Given the description of an element on the screen output the (x, y) to click on. 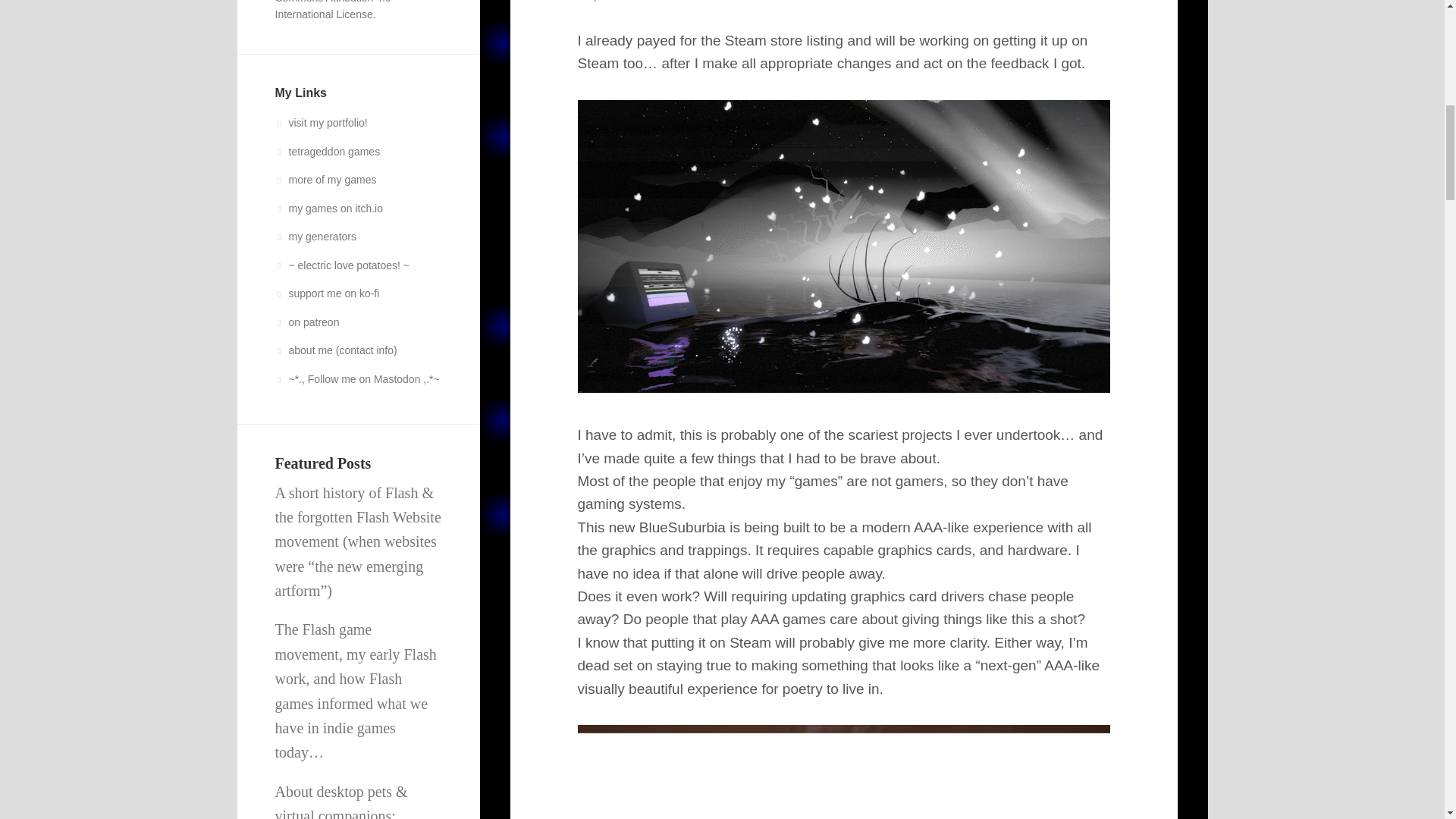
tetrageddon games (327, 151)
even more of my games (325, 179)
my games on itch.io (328, 207)
more of my games (325, 179)
the official potatoware website (342, 265)
Creative Commons Attribution 4.0 International (334, 10)
tetrageddon games (327, 151)
my games on itch.io (328, 207)
visit my portfolio! (320, 122)
my generators (315, 236)
